Given the description of an element on the screen output the (x, y) to click on. 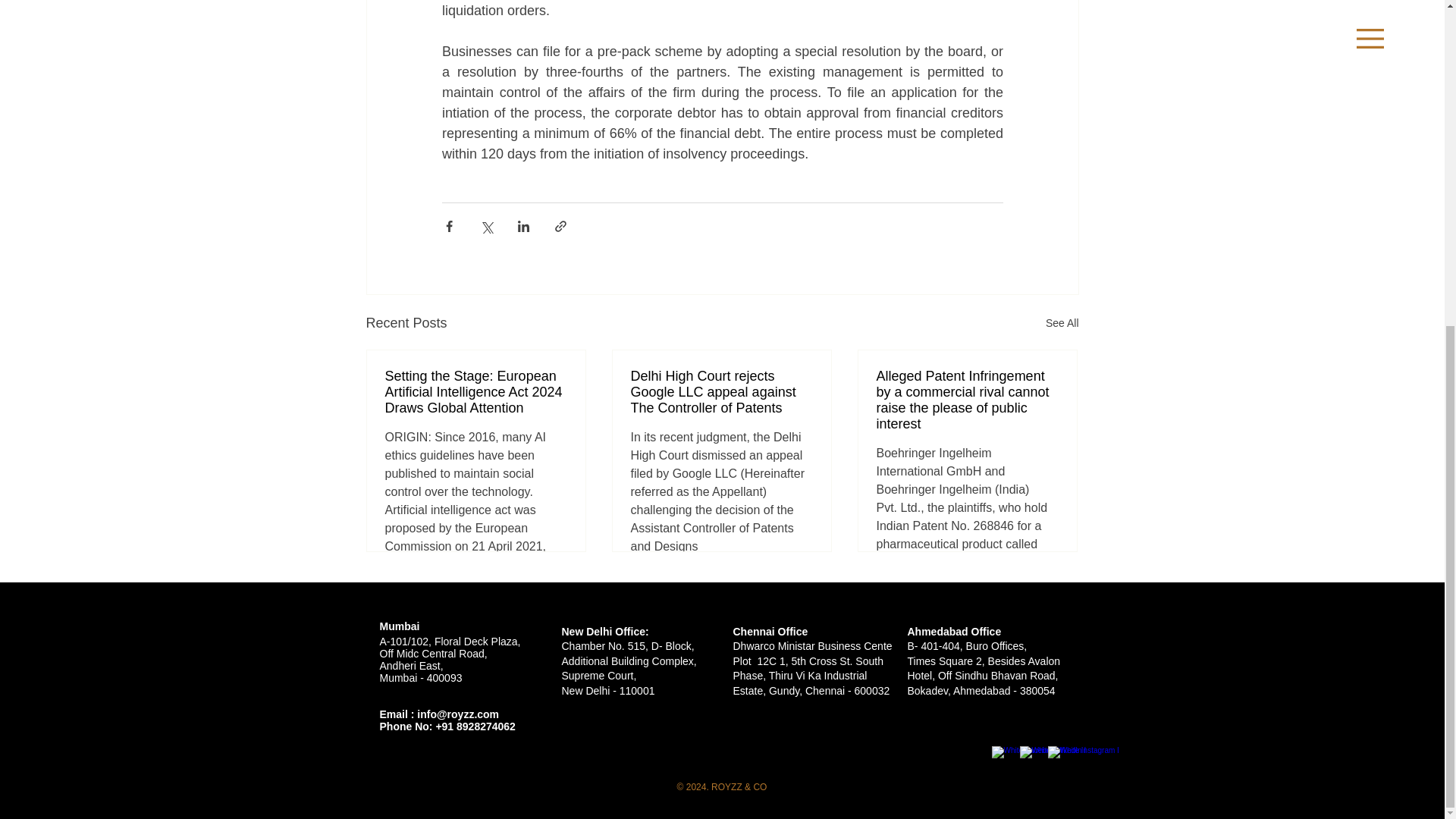
See All (1061, 323)
